Given the description of an element on the screen output the (x, y) to click on. 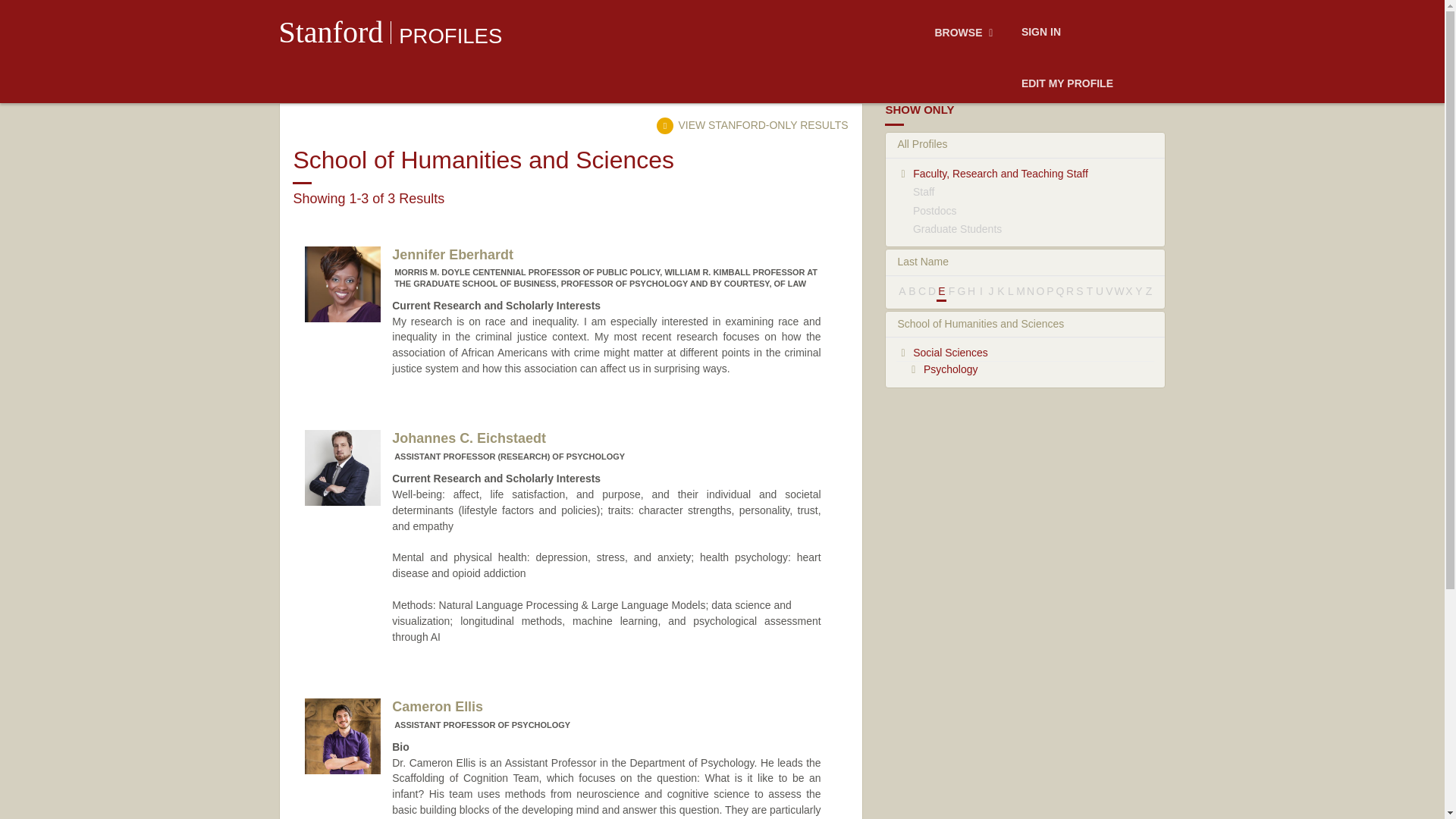
Stanford (331, 32)
VIEW STANFORD-ONLY RESULTS (751, 124)
EDIT MY PROFILE (1067, 84)
BROWSE (966, 32)
PROFILES (450, 35)
SIGN IN (1040, 32)
